Given the description of an element on the screen output the (x, y) to click on. 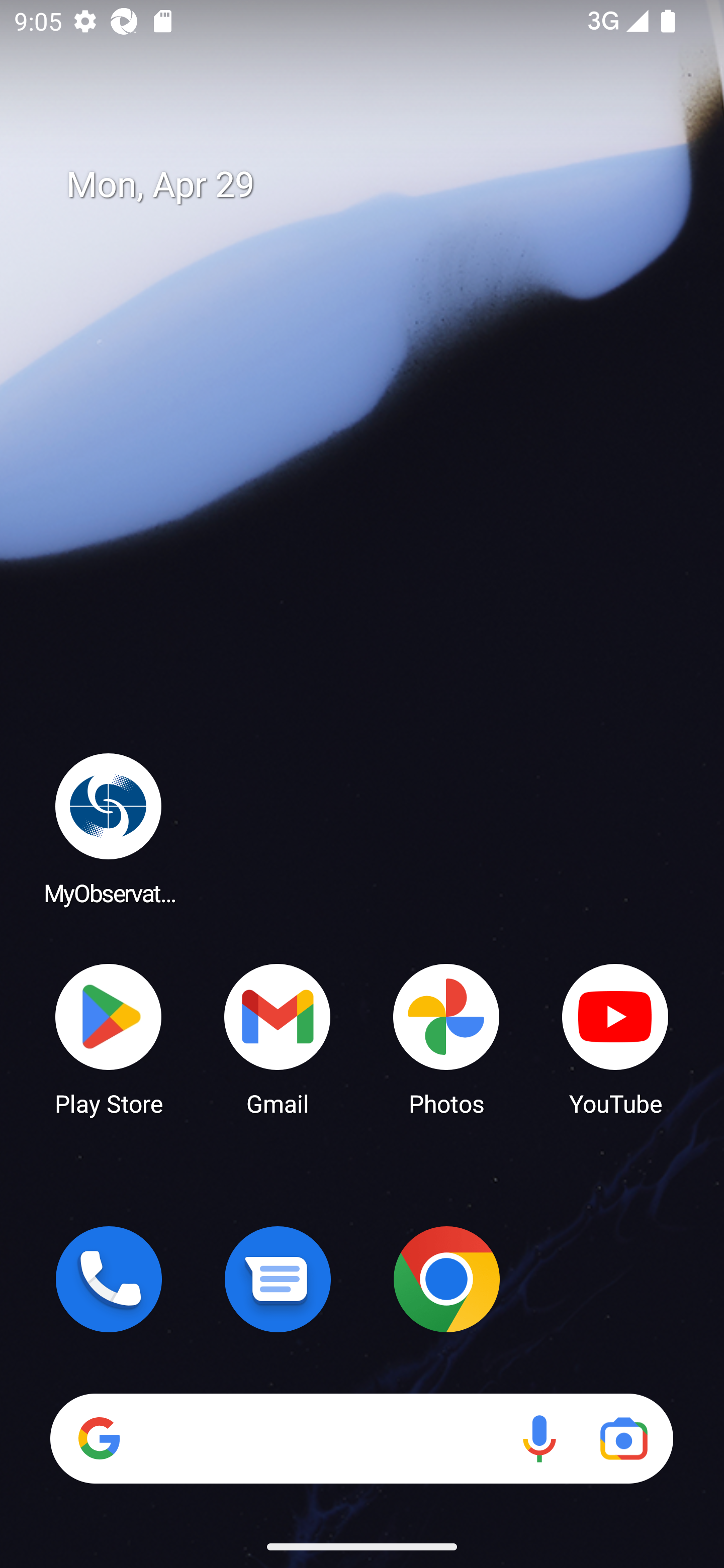
Mon, Apr 29 (375, 184)
MyObservatory (108, 828)
Play Store (108, 1038)
Gmail (277, 1038)
Photos (445, 1038)
YouTube (615, 1038)
Phone (108, 1279)
Messages (277, 1279)
Chrome (446, 1279)
Voice search (539, 1438)
Google Lens (623, 1438)
